Given the description of an element on the screen output the (x, y) to click on. 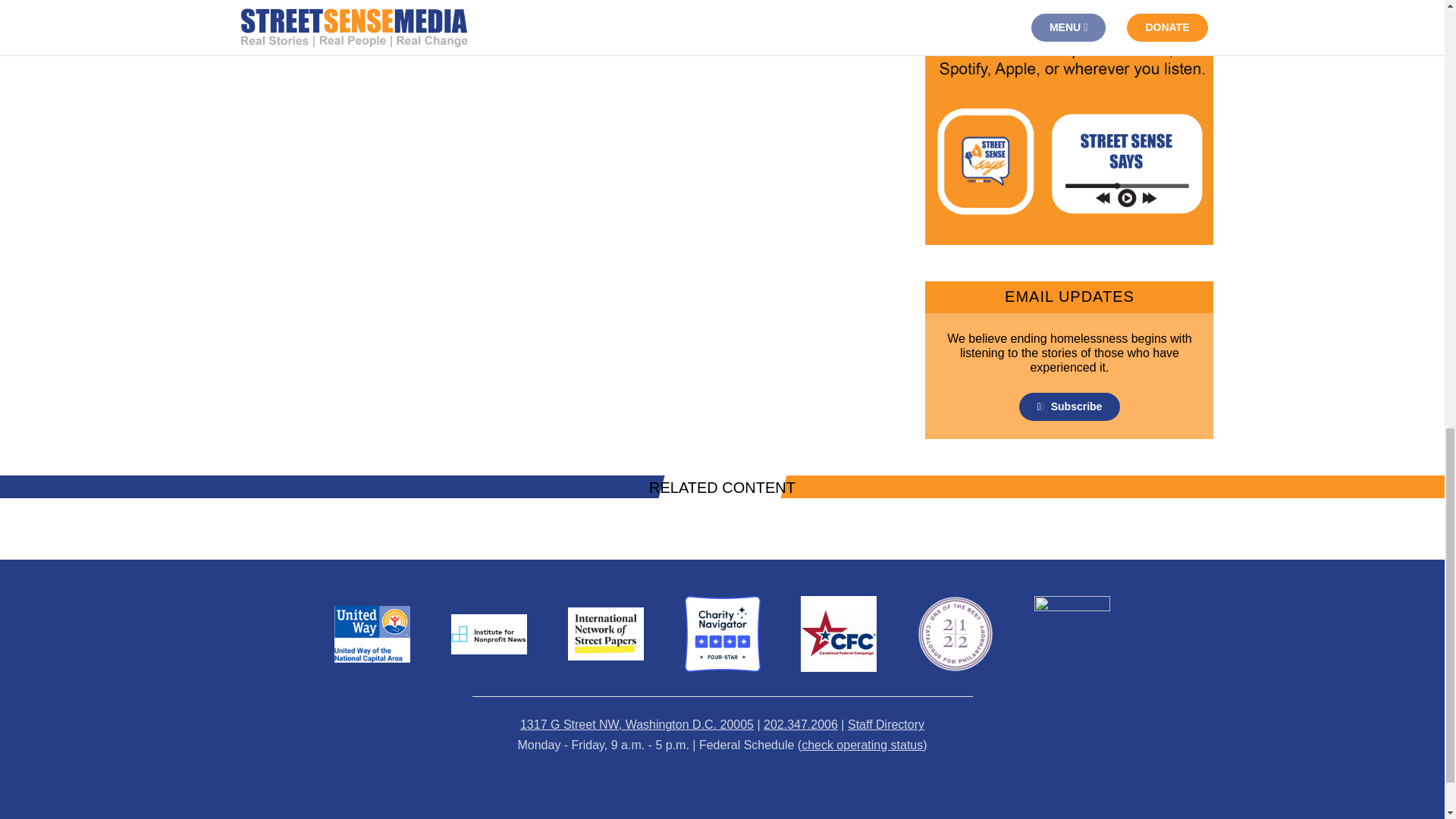
1317 G Street NW, Washington D.C. 20005 (636, 724)
check operating status (862, 744)
Staff Directory (885, 724)
Subscribe (1070, 406)
202.347.2006 (800, 724)
